Given the description of an element on the screen output the (x, y) to click on. 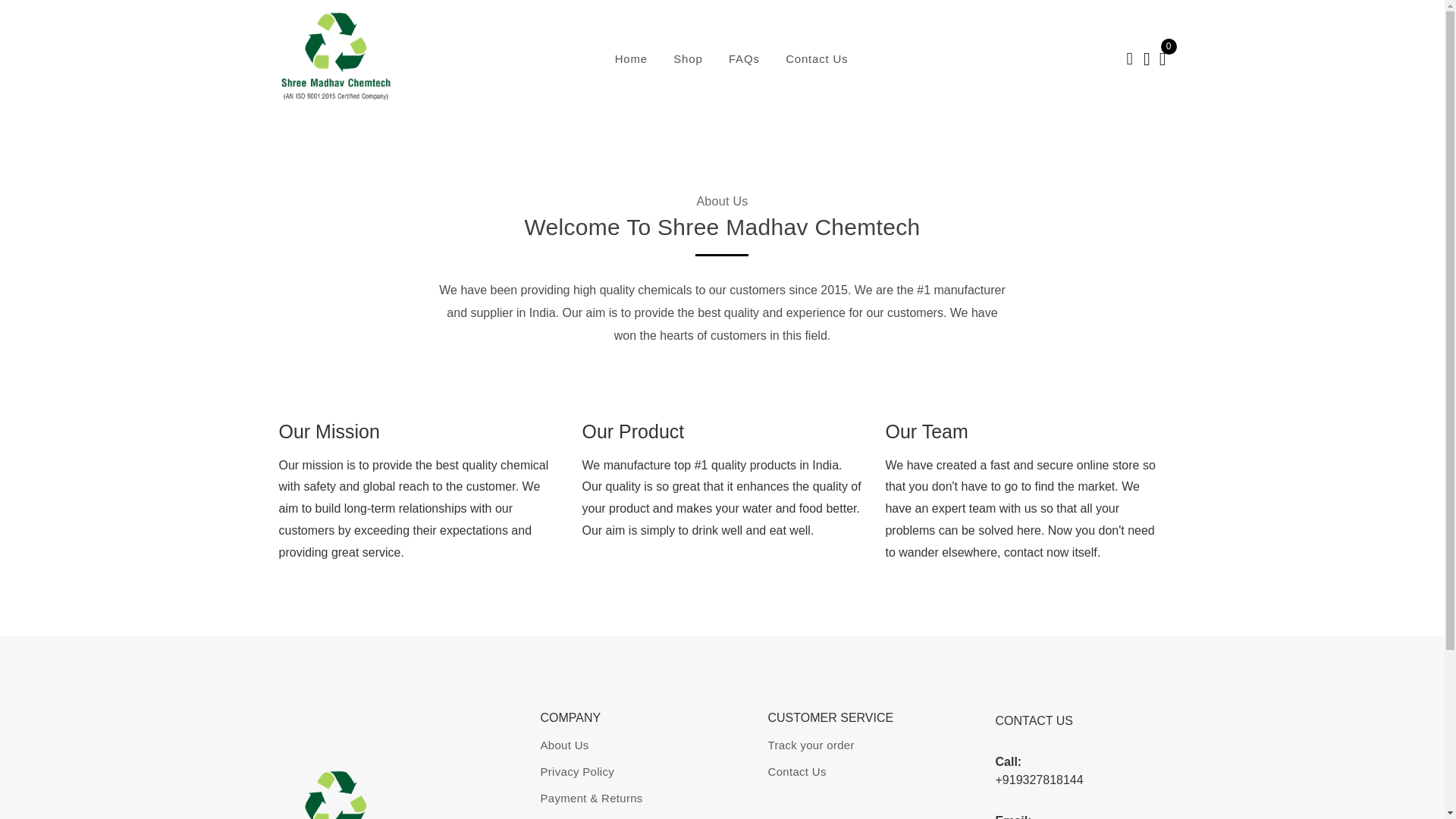
Contact Us (796, 771)
Track your order (810, 744)
About Us (564, 744)
Privacy Policy (577, 771)
